Given the description of an element on the screen output the (x, y) to click on. 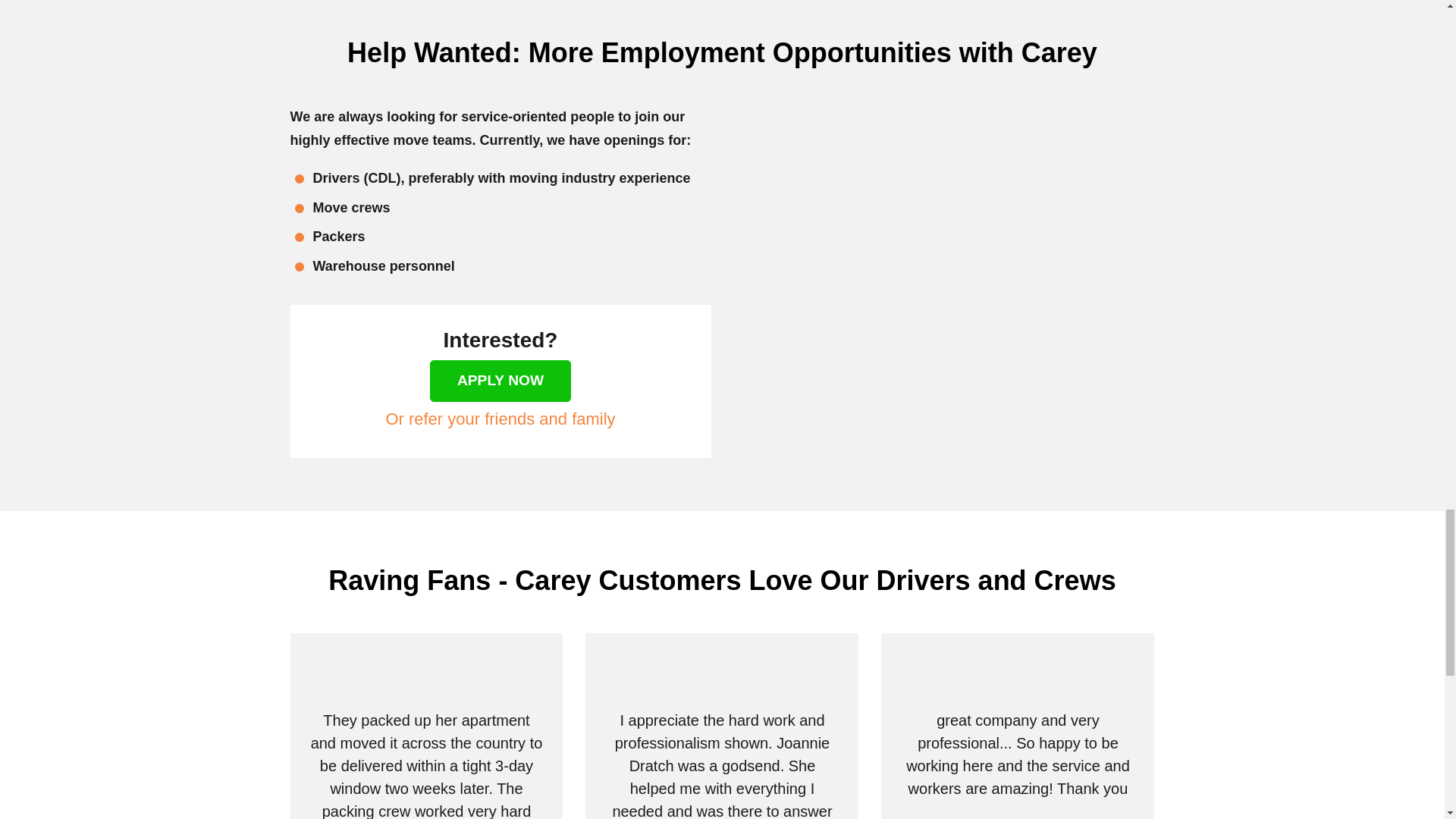
APPLY NOW (499, 381)
